Given the description of an element on the screen output the (x, y) to click on. 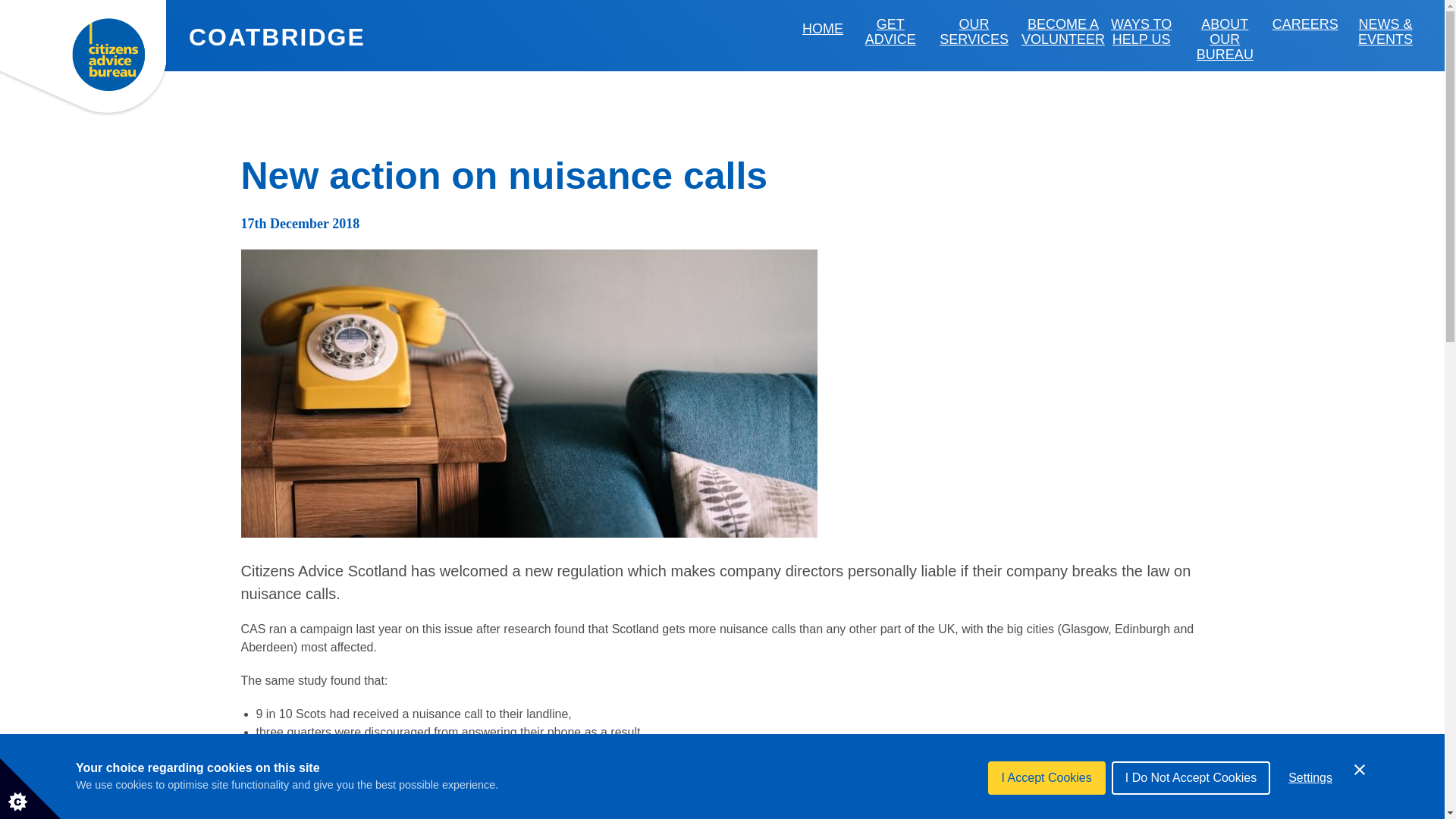
ABOUT OUR BUREAU (1224, 39)
BECOME A VOLUNTEER (1063, 31)
OUR SERVICES (973, 31)
WAYS TO HELP US (1141, 31)
GET ADVICE (889, 31)
Settings (1309, 812)
Skip to main content (94, 7)
CAREERS (1305, 24)
HOME (822, 28)
I Do Not Accept Cookies (1190, 815)
